Given the description of an element on the screen output the (x, y) to click on. 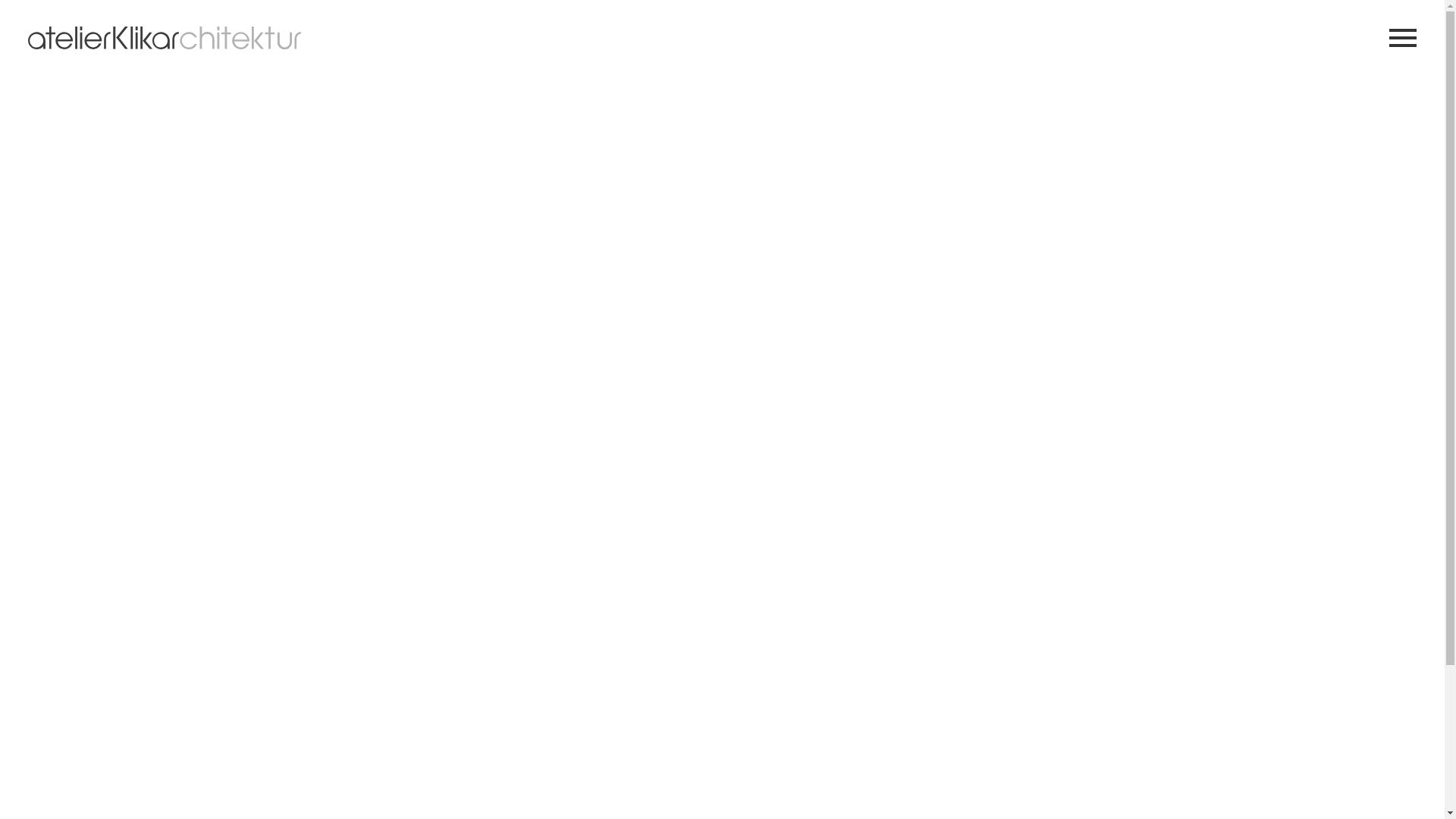
Primary Menu Element type: text (1402, 37)
